Given the description of an element on the screen output the (x, y) to click on. 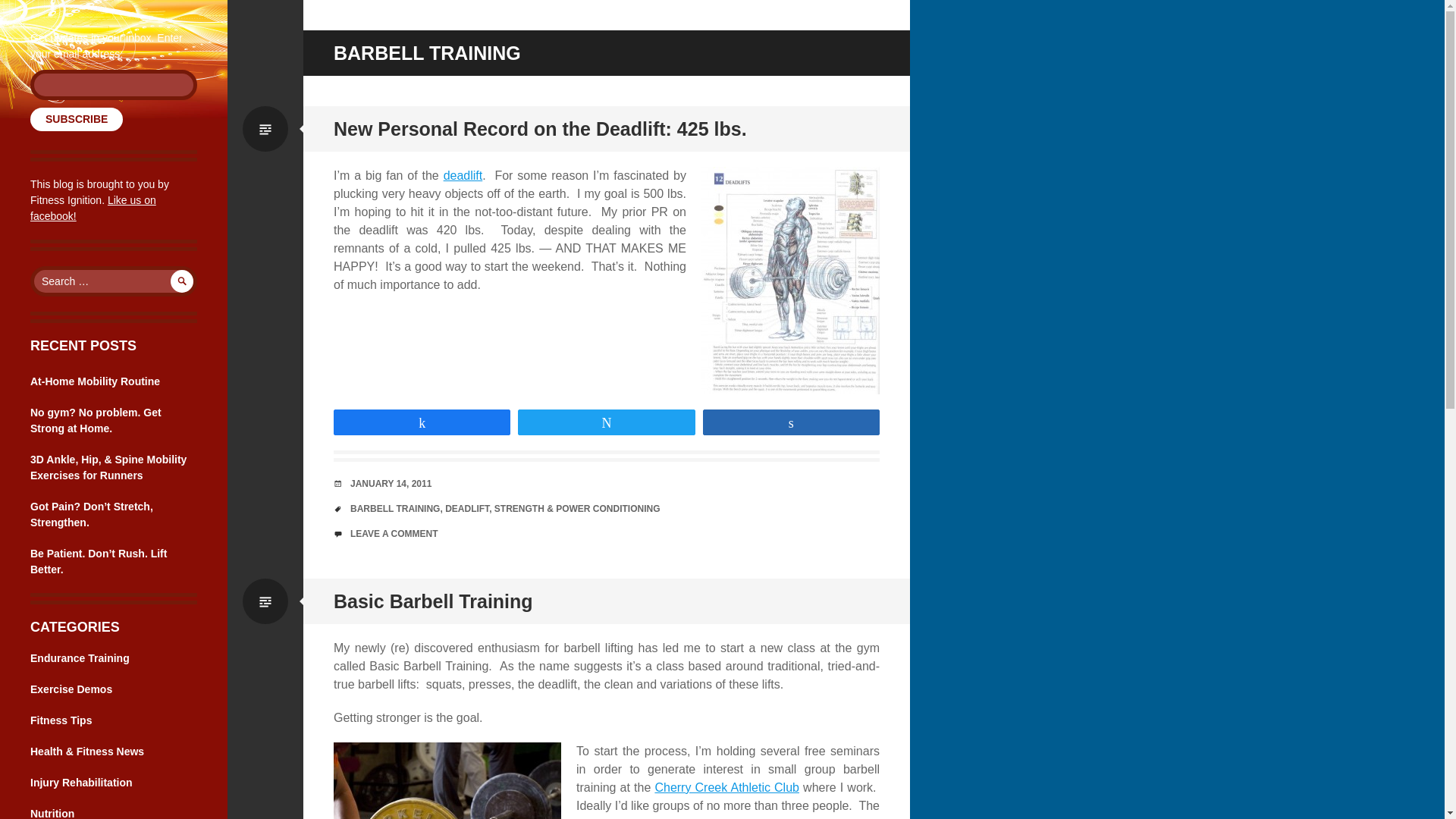
Nutrition (52, 813)
New Personal Record on the Deadlift: 425 lbs. (539, 128)
JANUARY 14, 2011 (390, 483)
No gym? No problem. Get Strong at Home. (95, 420)
Search for: (113, 281)
2:52 pm (390, 483)
Exercise Demos (71, 689)
Fitness Tips (60, 720)
At-Home Mobility Routine (95, 381)
Injury Rehabilitation (81, 782)
DEADLIFT (467, 508)
Basic Barbell Training (432, 600)
deadlift (463, 174)
Subscribe (76, 119)
Like us on facebook! (92, 207)
